Given the description of an element on the screen output the (x, y) to click on. 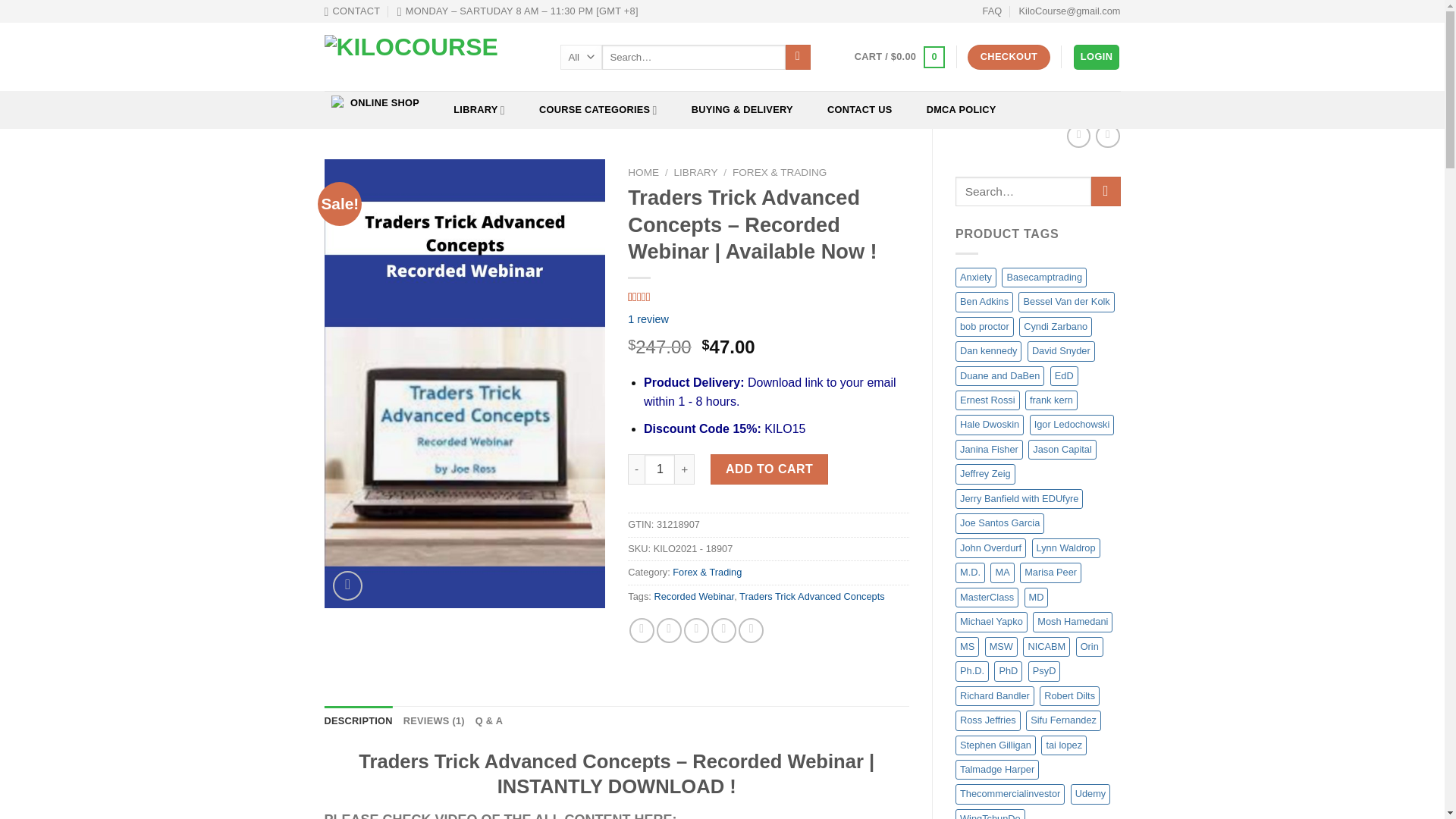
Ben Adkins (984, 301)
LOGIN (1096, 57)
Basecamptrading (1043, 277)
Zoom (347, 585)
1 (660, 469)
FAQ (992, 11)
Anxiety (975, 277)
Bessel Van der Kolk (1065, 301)
Search (798, 57)
CONTACT (352, 11)
Cart (899, 57)
ONLINE SHOP (375, 102)
DMCA POLICY (960, 109)
COURSE CATEGORIES (597, 109)
CONTACT US (859, 109)
